Given the description of an element on the screen output the (x, y) to click on. 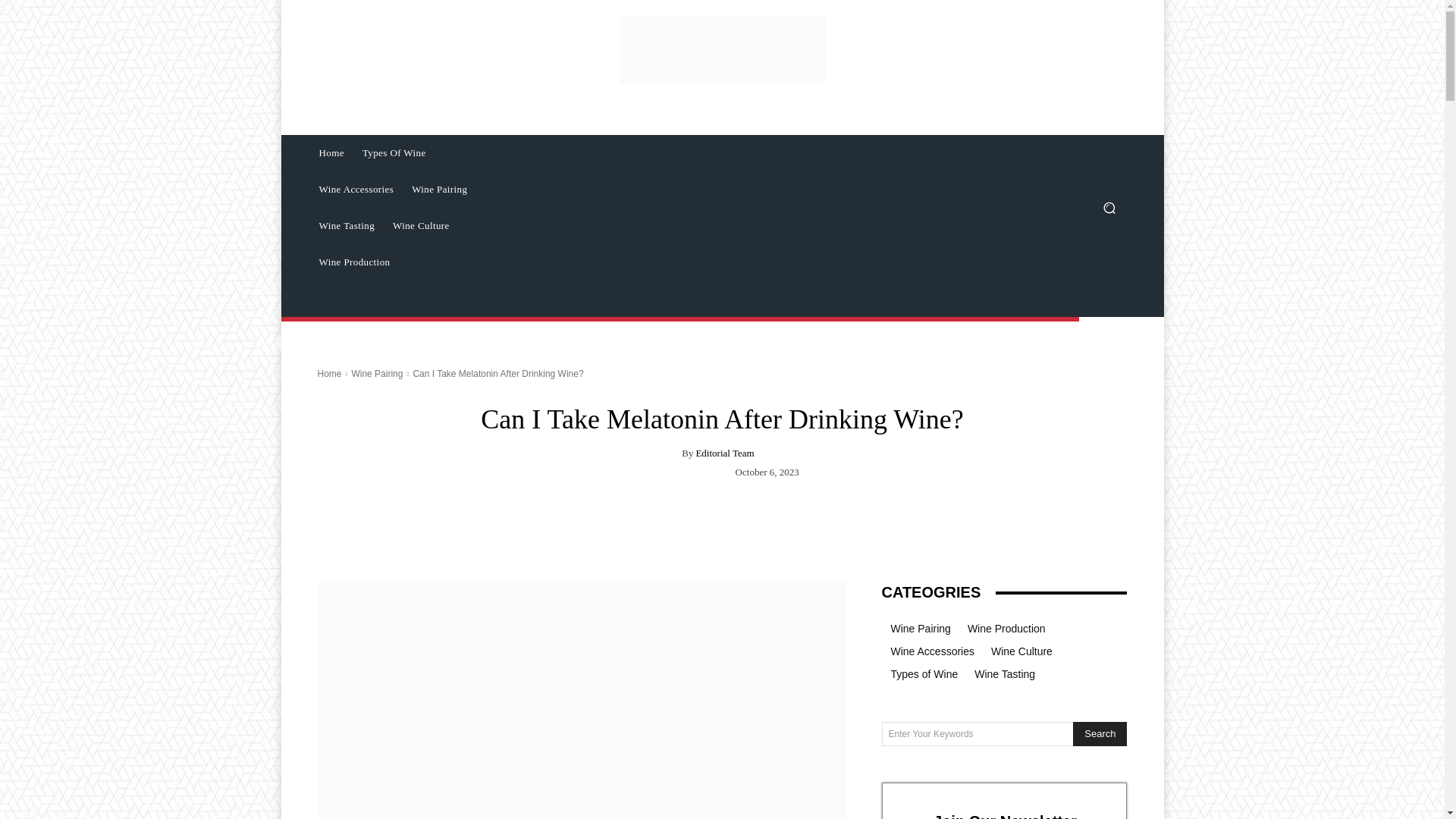
Wine Pairing (376, 373)
iblWines (721, 49)
Home (330, 153)
Home (328, 373)
Wine Accessories (355, 189)
Types Of Wine (394, 153)
Wine Culture (421, 226)
Editorial Team (724, 452)
Wine Tasting (346, 226)
View all posts in Wine Pairing (376, 373)
iblWines (721, 49)
Wine Pairing (439, 189)
Wine Production (353, 262)
